Given the description of an element on the screen output the (x, y) to click on. 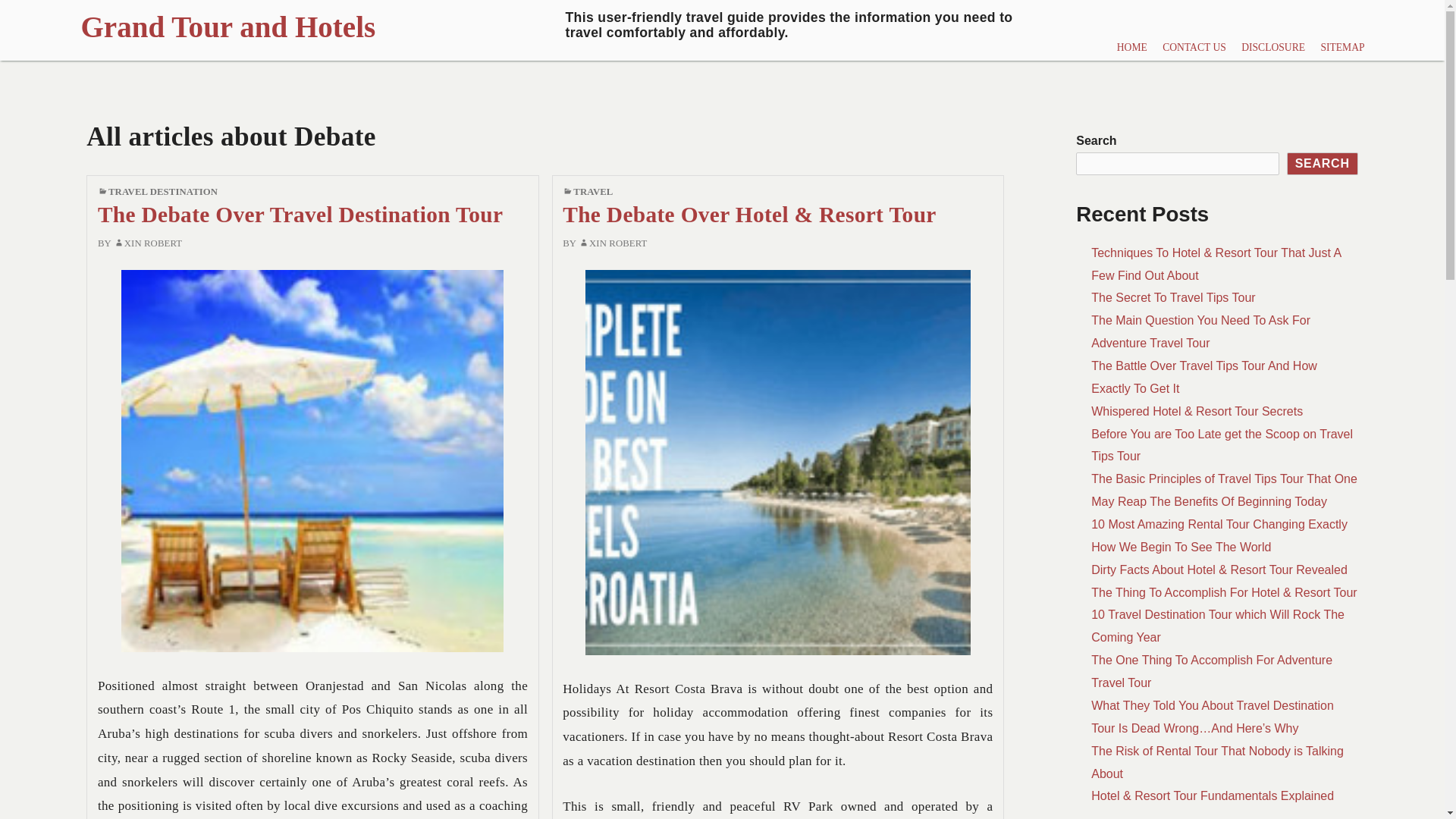
TRAVEL (592, 191)
The Debate Over Travel Destination Tour (299, 214)
XIN ROBERT (612, 243)
Grand Tour and Hotels (560, 30)
XIN ROBERT (148, 243)
HOME (1131, 47)
SITEMAP (1343, 47)
TRAVEL DESTINATION (161, 191)
DISCLOSURE (1273, 47)
CONTACT US (1193, 47)
